Given the description of an element on the screen output the (x, y) to click on. 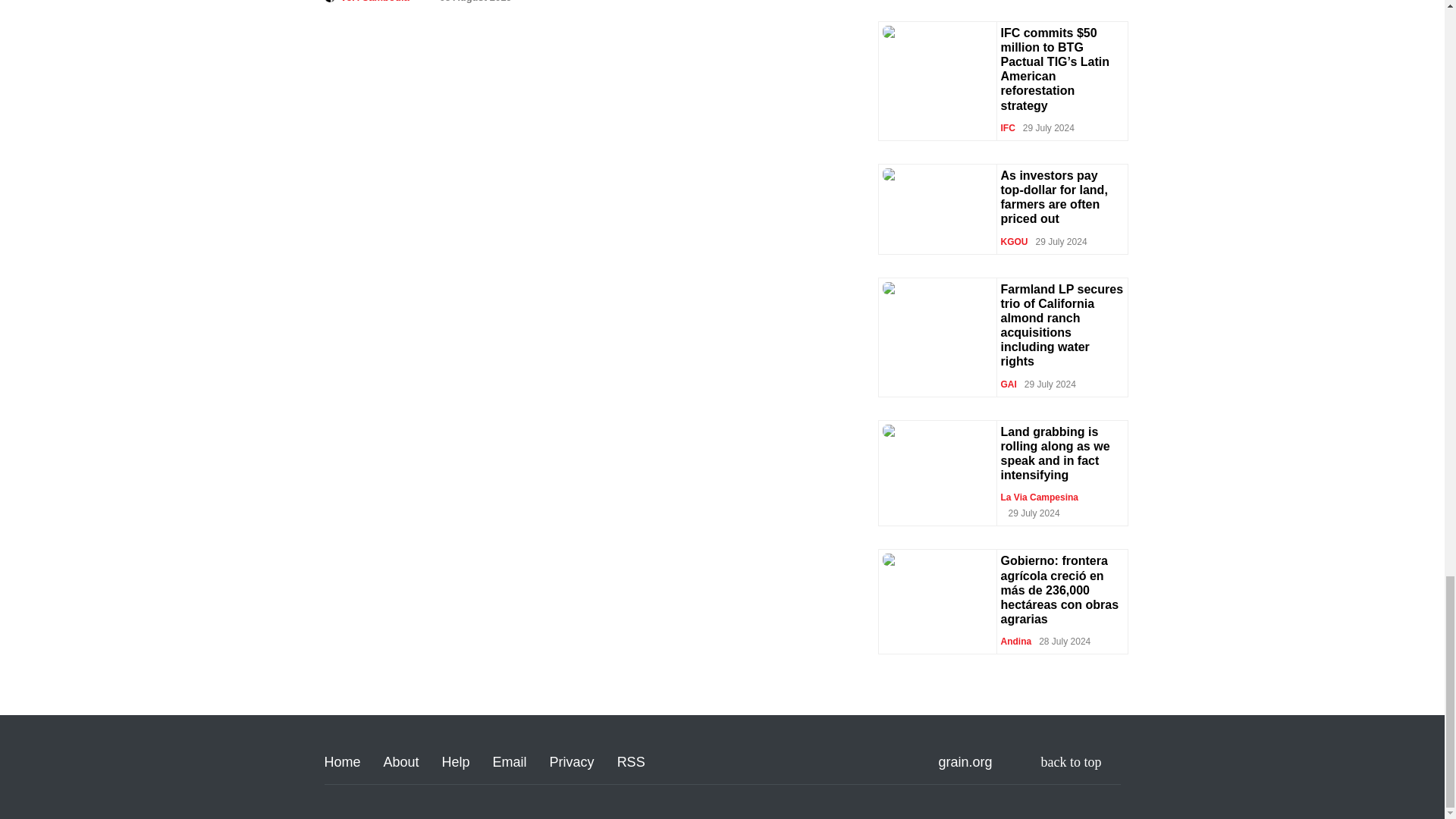
VoA Cambodia (374, 1)
back to top (1081, 762)
